Given the description of an element on the screen output the (x, y) to click on. 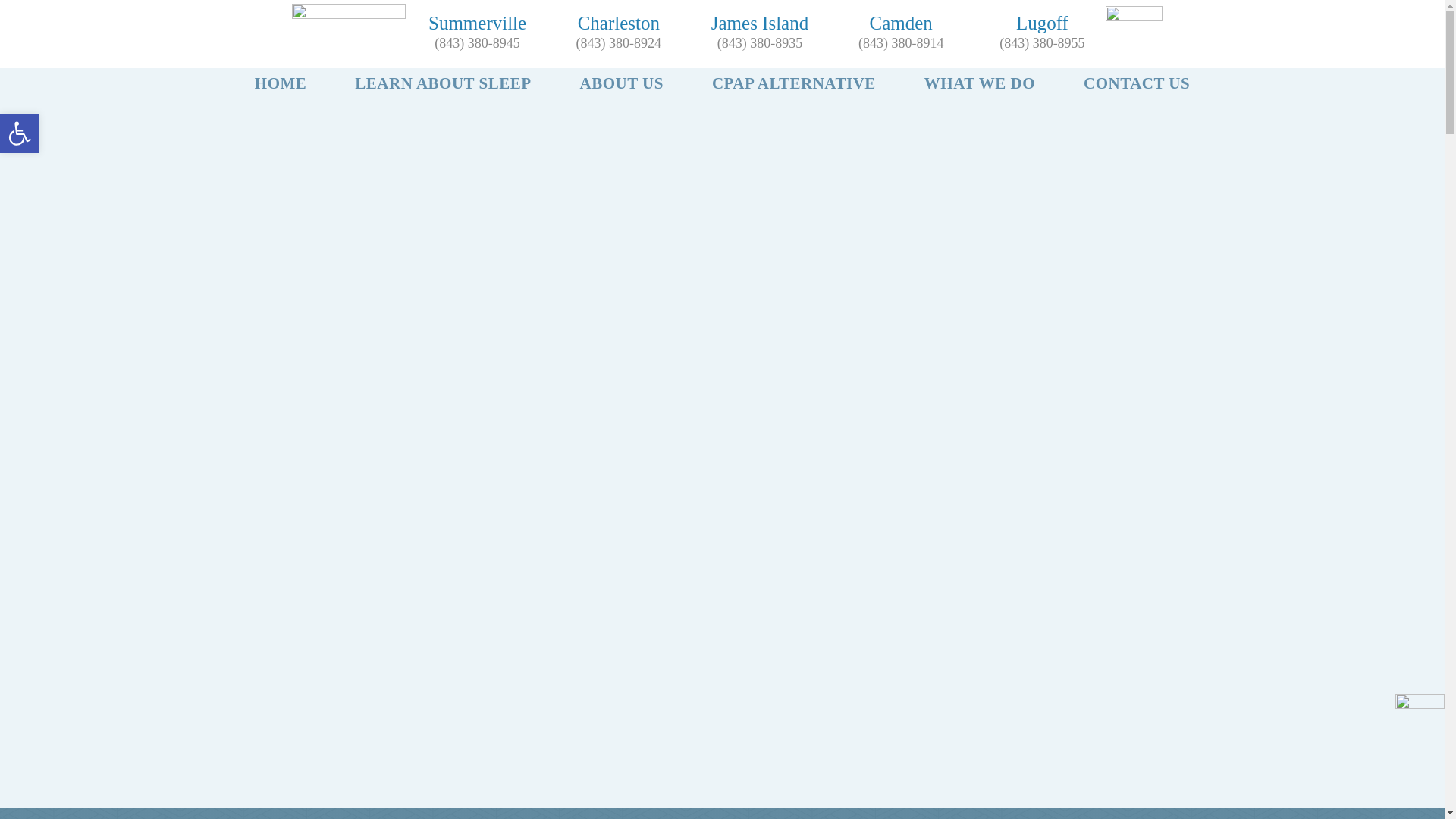
James Island (759, 22)
Accessibility Tools (19, 133)
Summerville (476, 22)
Camden (901, 22)
Accessibility Tools (19, 133)
Charleston (618, 22)
Lugoff (1042, 22)
